Given the description of an element on the screen output the (x, y) to click on. 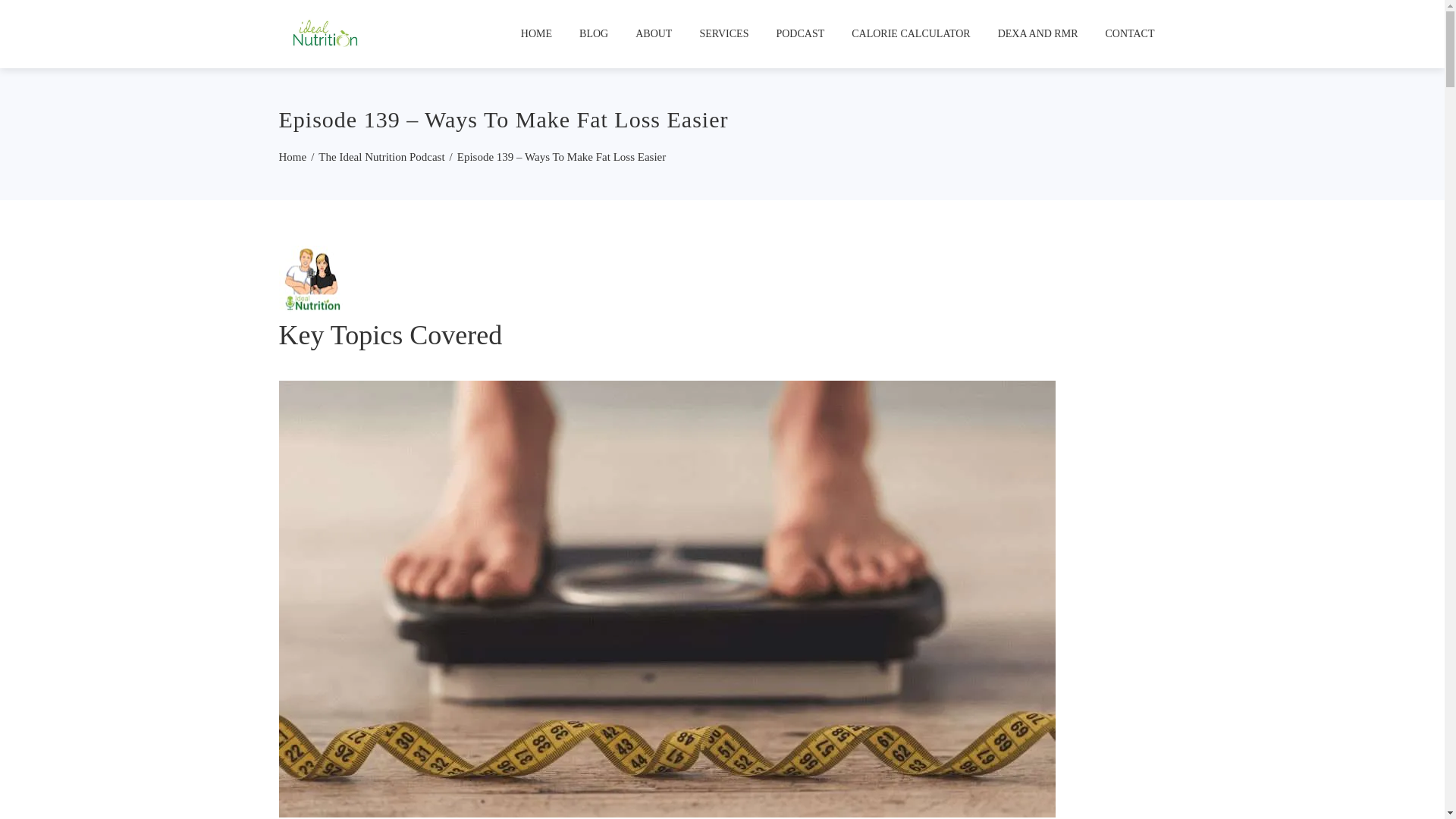
SERVICES (723, 33)
Home (293, 156)
CONTACT (1129, 33)
CALORIE CALCULATOR (910, 33)
PODCAST (799, 33)
BLOG (593, 33)
HOME (536, 33)
Libsyn Player (722, 279)
DEXA AND RMR (1038, 33)
The Ideal Nutrition Podcast (381, 156)
ABOUT (653, 33)
